Given the description of an element on the screen output the (x, y) to click on. 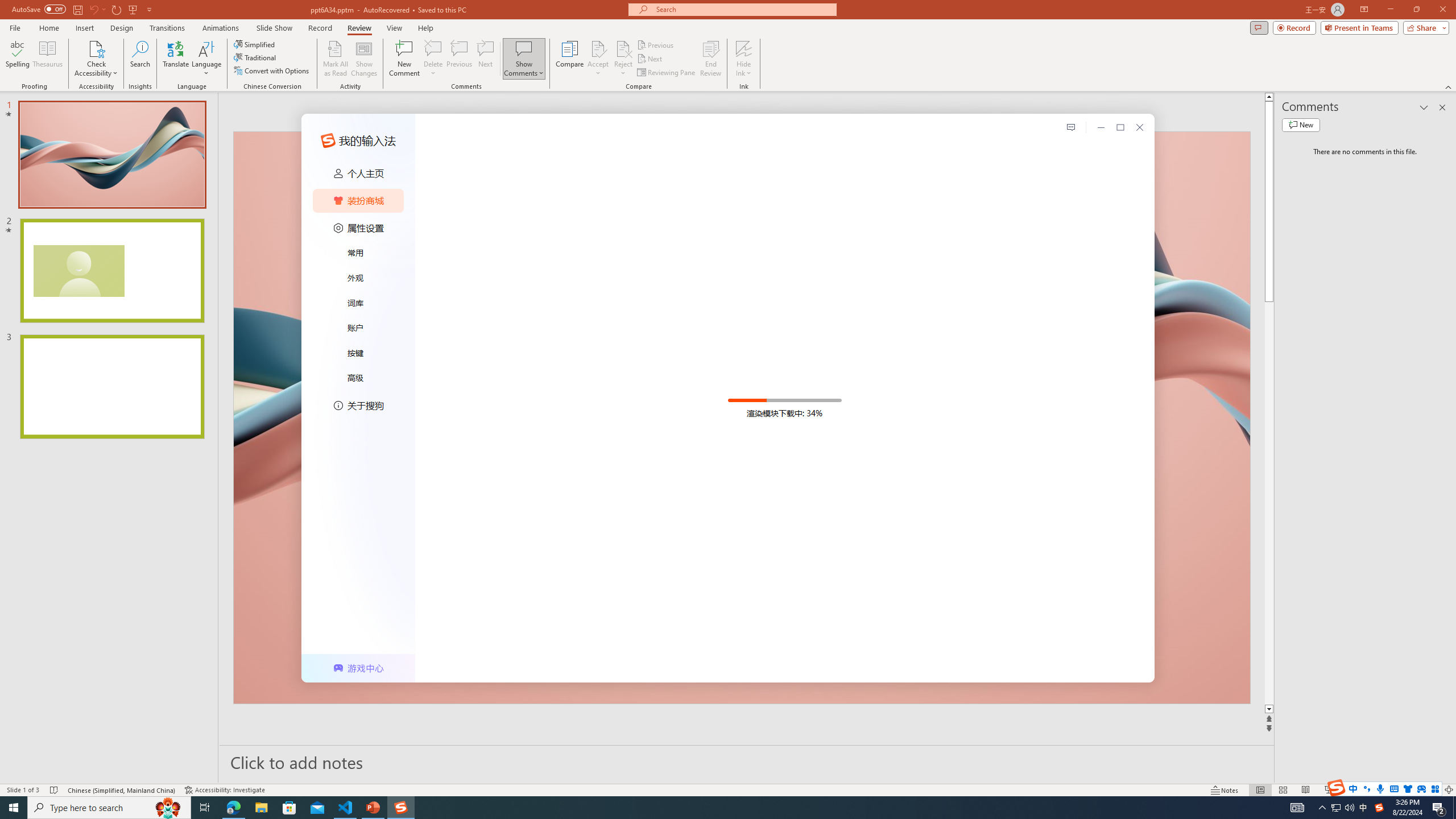
Language (206, 58)
Reject Change (622, 48)
Reject (622, 58)
Previous (655, 44)
Simplified (254, 44)
Convert with Options... (272, 69)
